Given the description of an element on the screen output the (x, y) to click on. 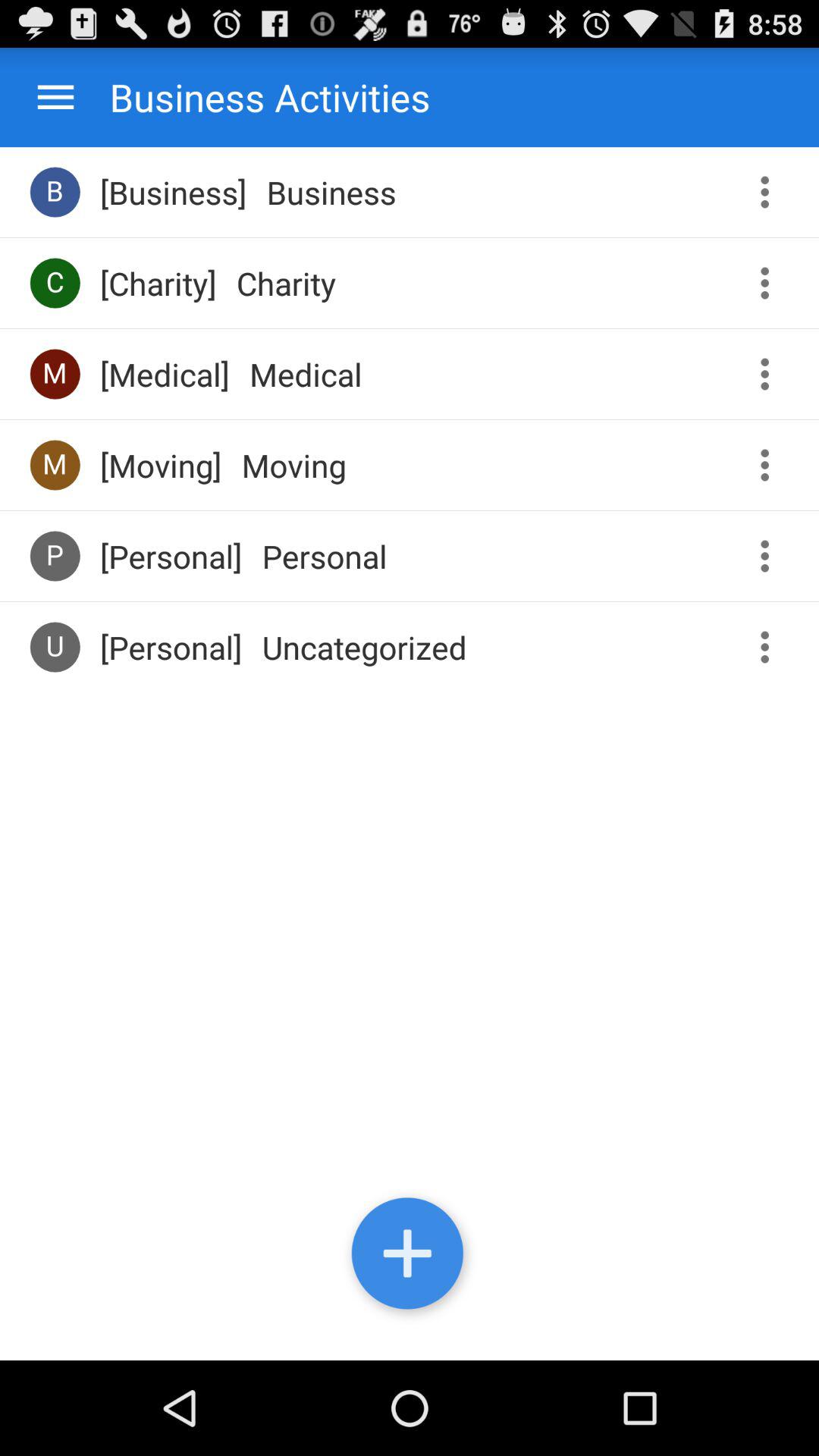
menu button for charity activity (770, 283)
